Given the description of an element on the screen output the (x, y) to click on. 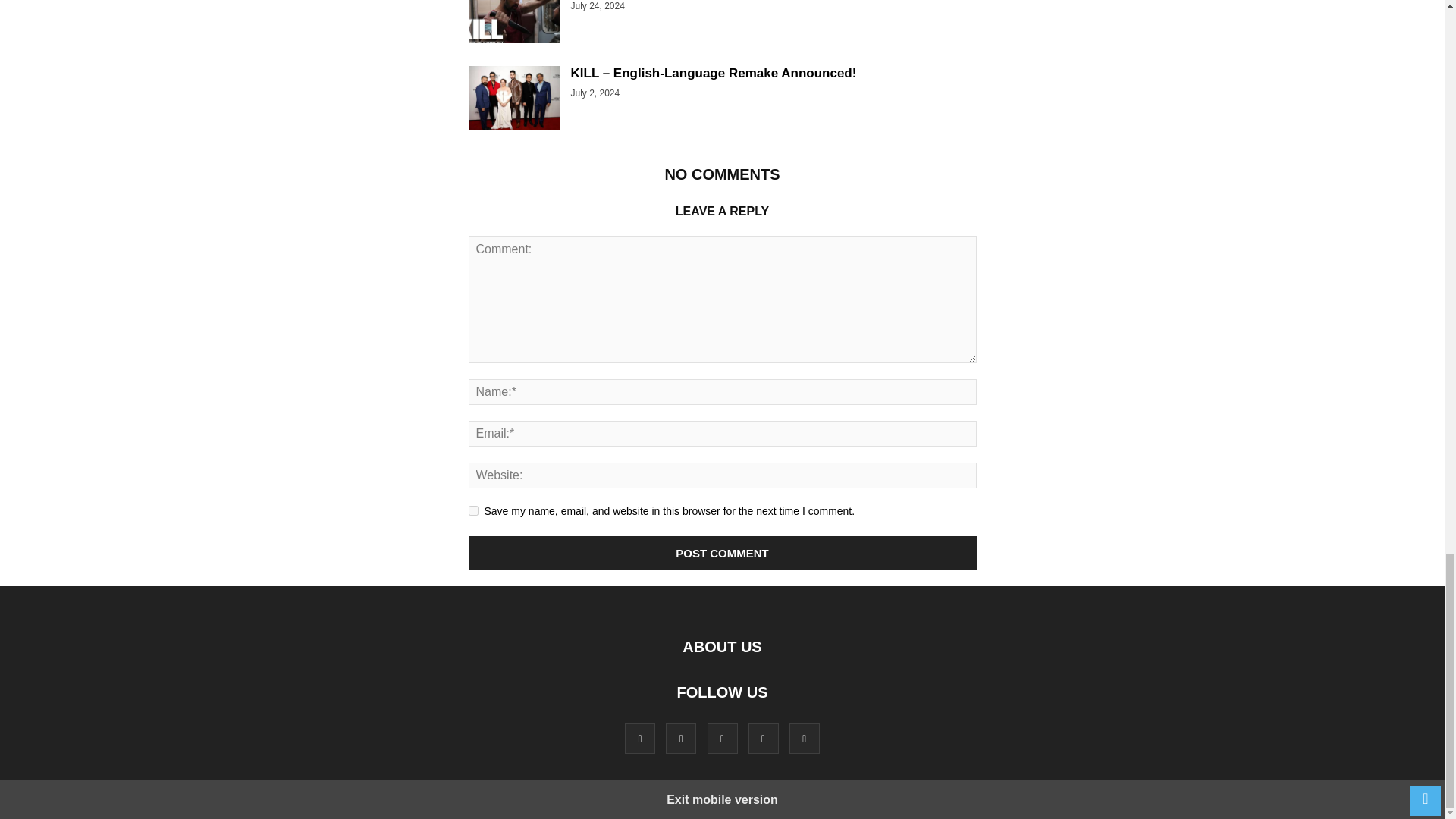
yes (473, 510)
Post Comment (722, 553)
Facebook (639, 738)
Post Comment (722, 553)
